Given the description of an element on the screen output the (x, y) to click on. 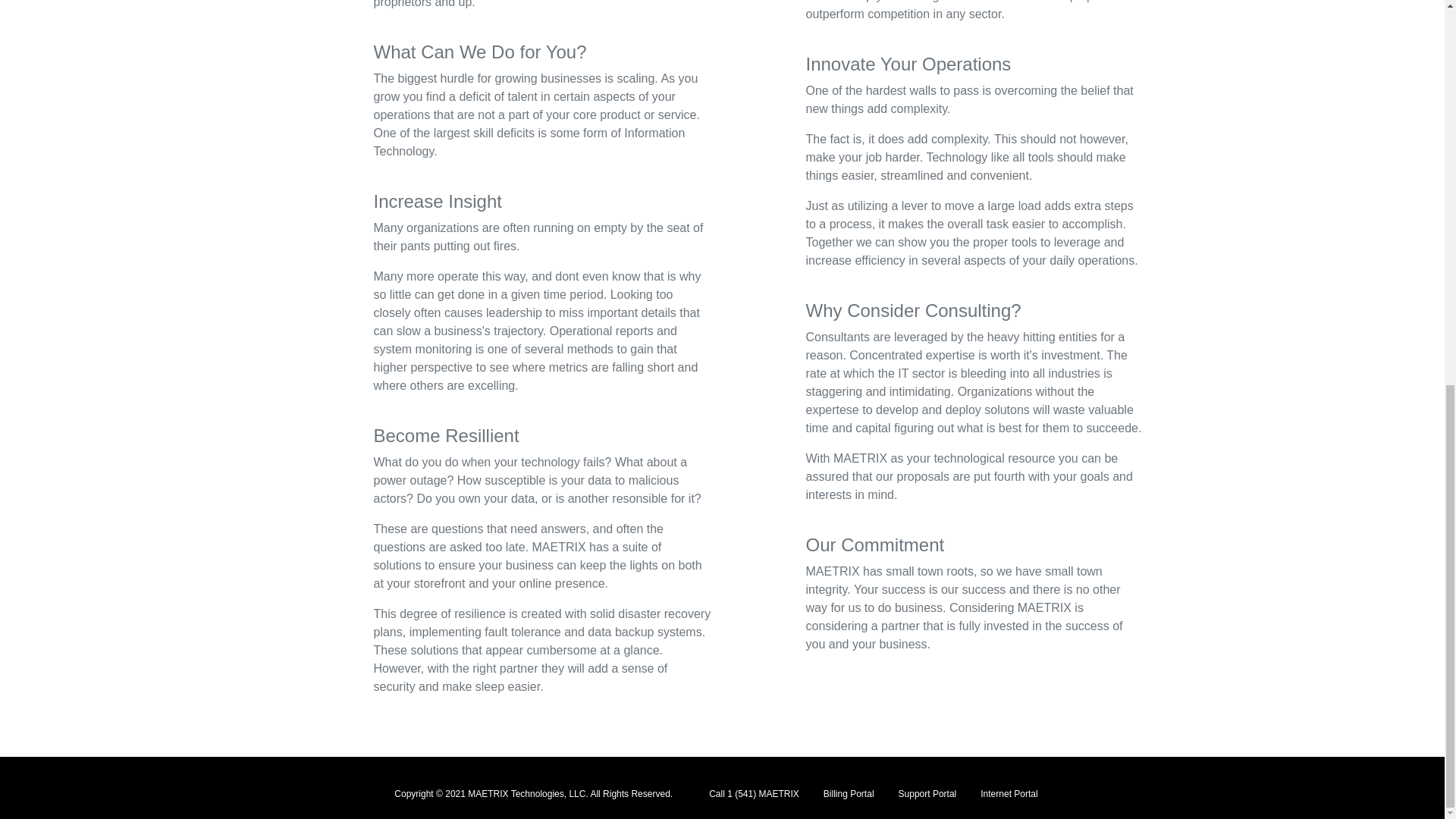
Billing Portal (849, 793)
Internet Portal (1007, 793)
Support Portal (927, 793)
